Given the description of an element on the screen output the (x, y) to click on. 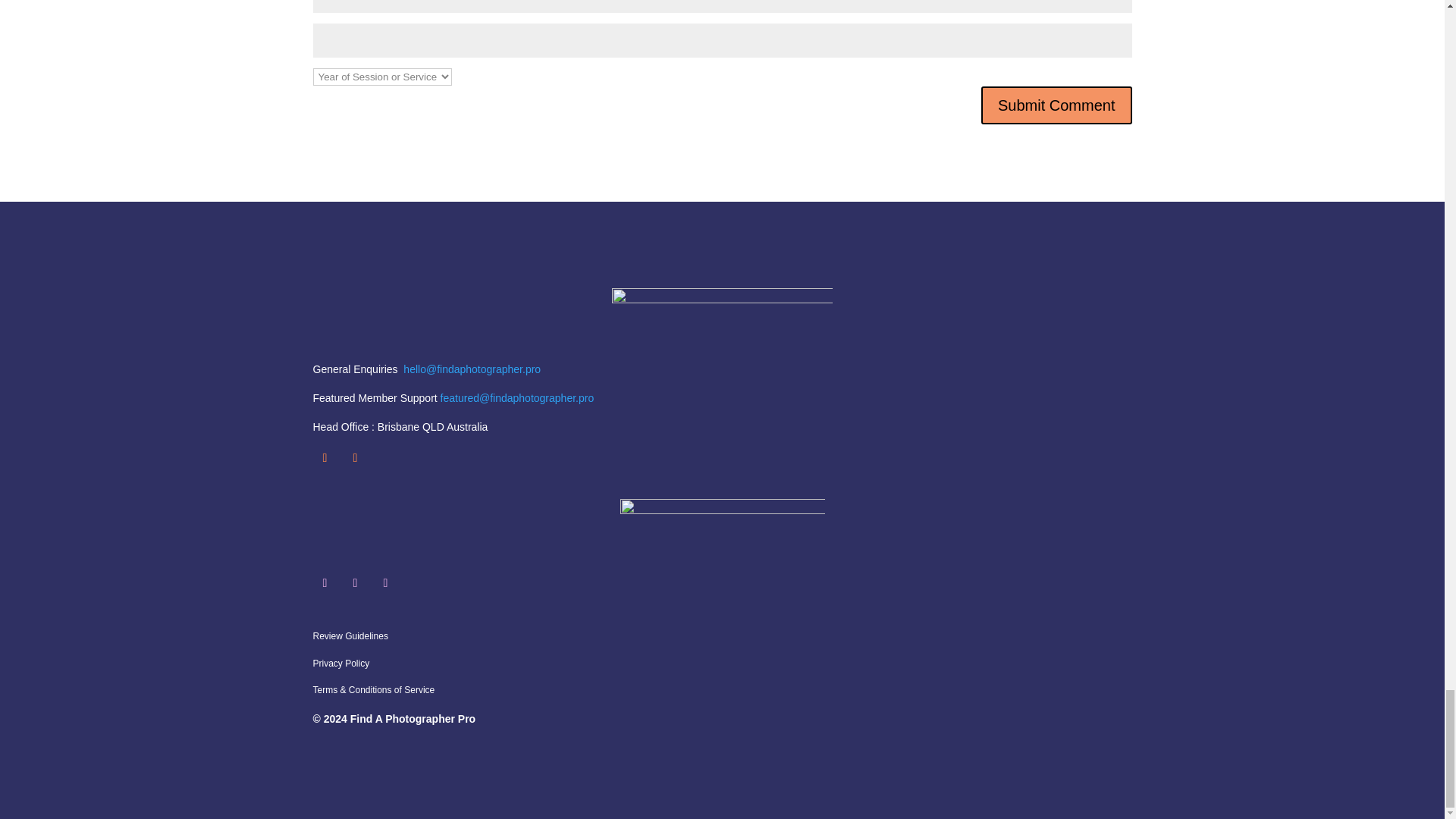
Follow on Facebook (354, 582)
Submit Comment (1056, 105)
Find A Photographer Pro White Transparent (721, 313)
FAP AUSTRALIA LOGO WHITE TRANSPARENT (722, 528)
Follow on Facebook (354, 457)
Follow on Instagram (324, 582)
Follow on Instagram (324, 457)
Follow on Pinterest (384, 582)
